Given the description of an element on the screen output the (x, y) to click on. 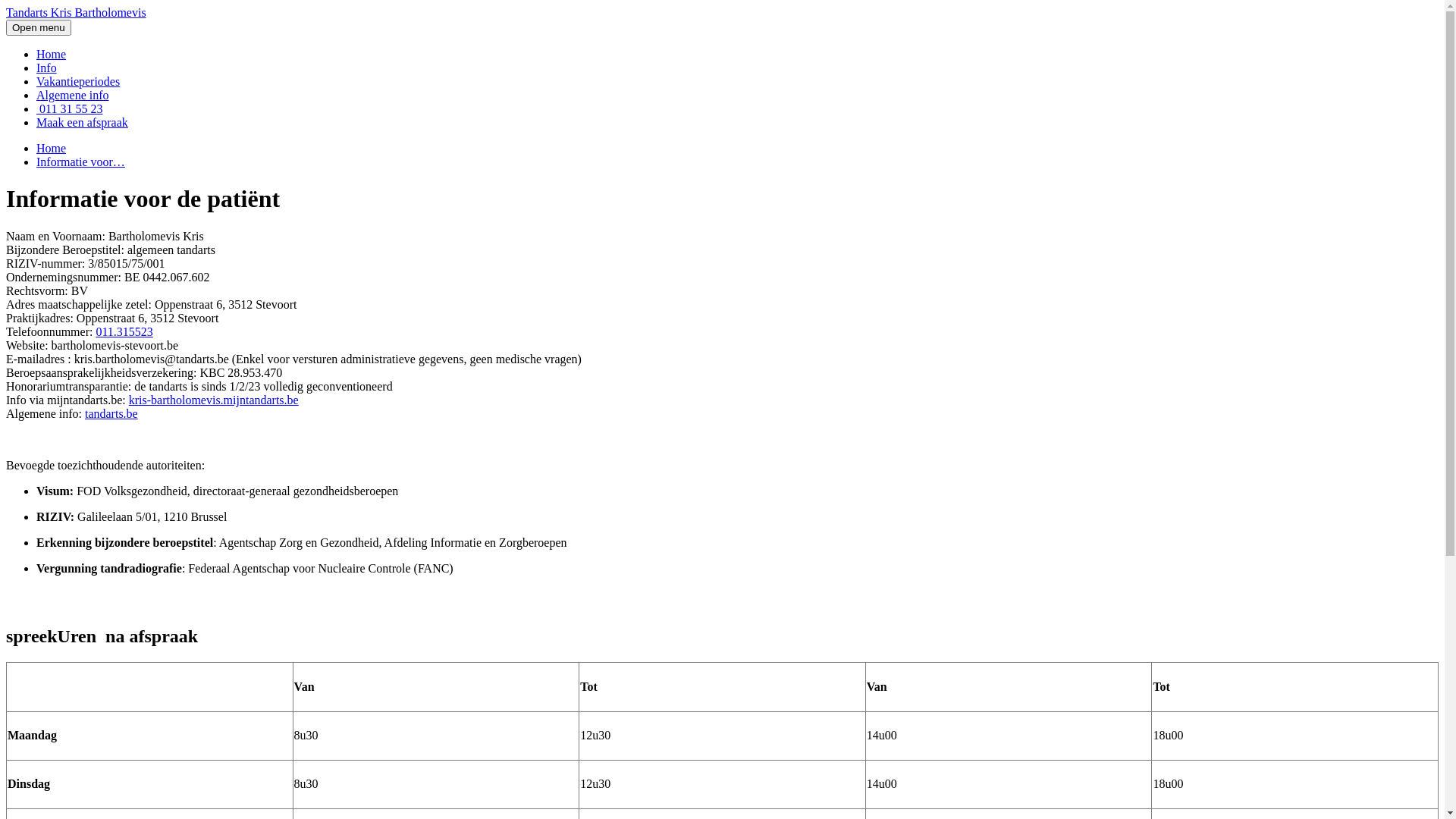
tandarts.be Element type: text (111, 413)
kris-bartholomevis.mijntandarts.be Element type: text (213, 399)
Open menu Element type: text (38, 27)
Maak een afspraak Element type: text (82, 122)
Home Element type: text (50, 53)
Info Element type: text (46, 67)
Algemene info Element type: text (72, 94)
 011 31 55 23 Element type: text (69, 108)
Tandarts Kris Bartholomevis Element type: text (76, 12)
Vakantieperiodes Element type: text (77, 81)
011.315523 Element type: text (123, 331)
Home Element type: text (50, 147)
